Given the description of an element on the screen output the (x, y) to click on. 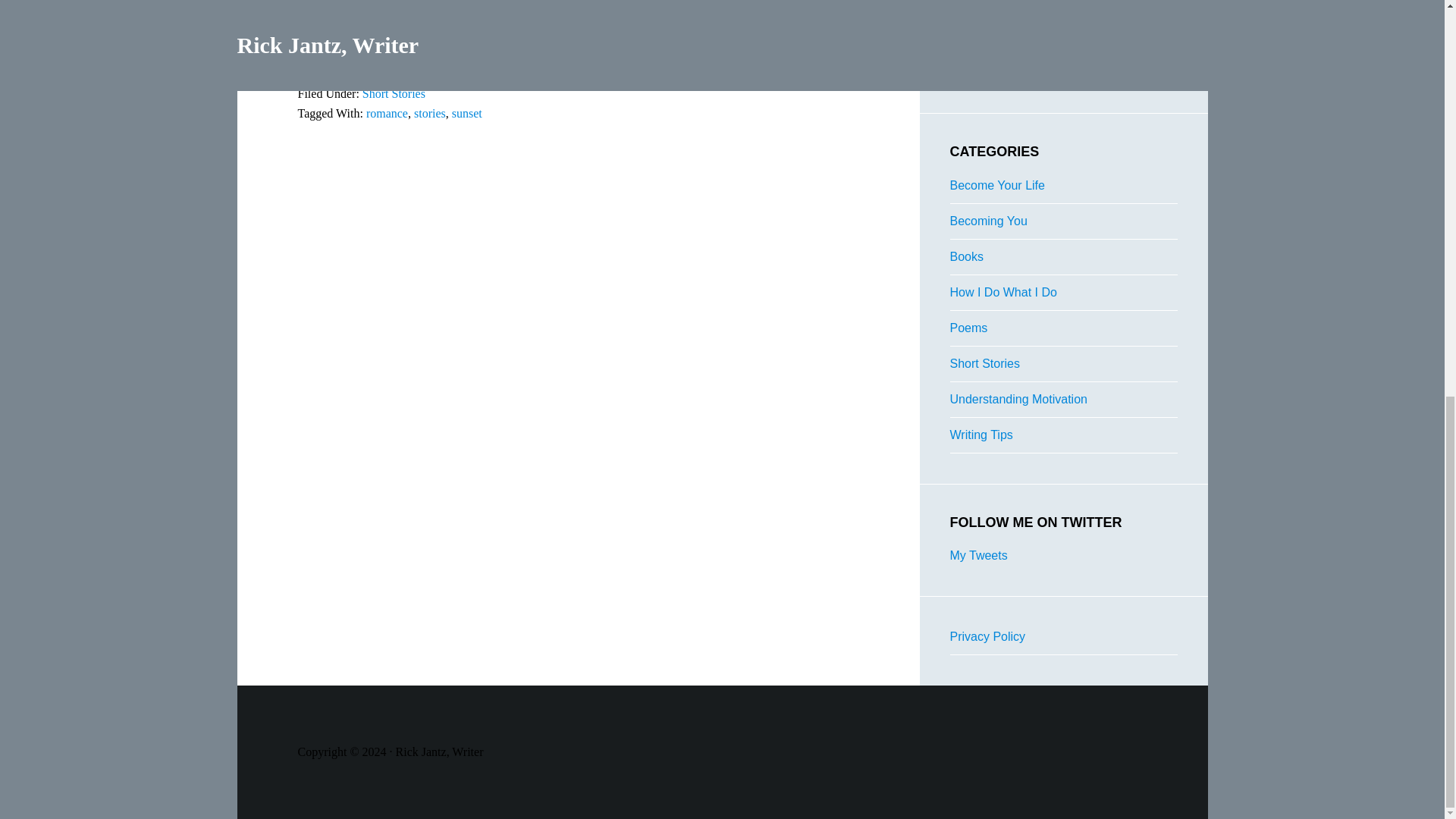
stories (429, 113)
My Tweets (978, 554)
Become Your Life (996, 185)
Short Stories (984, 363)
Poems (968, 327)
How I Do What I Do (1003, 291)
romance (386, 113)
Privacy Policy (987, 635)
Short Stories (393, 92)
Writing Tips (980, 434)
sunset (466, 113)
Becoming You (987, 220)
